Given the description of an element on the screen output the (x, y) to click on. 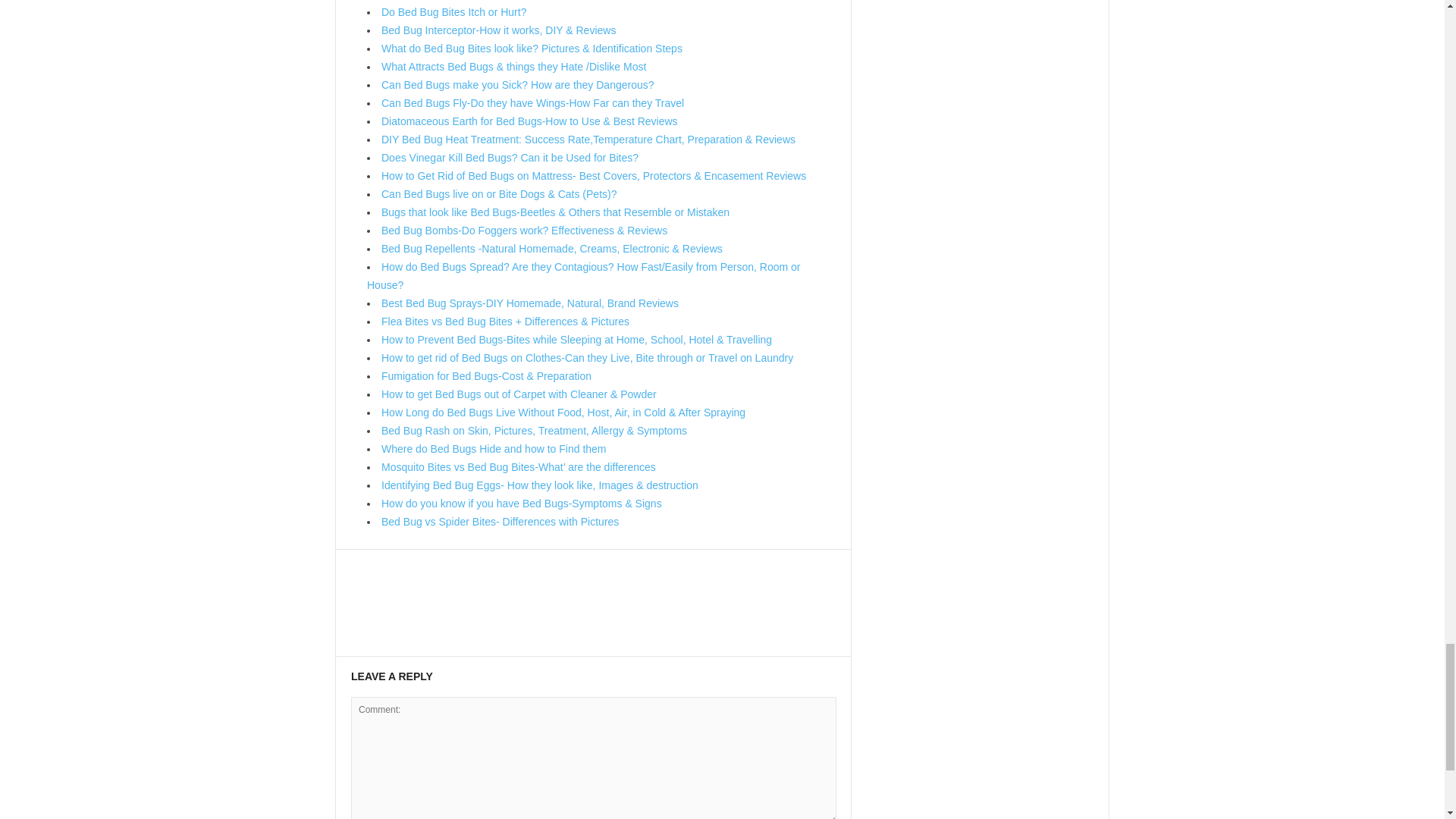
bottomFacebookLike (390, 565)
